Given the description of an element on the screen output the (x, y) to click on. 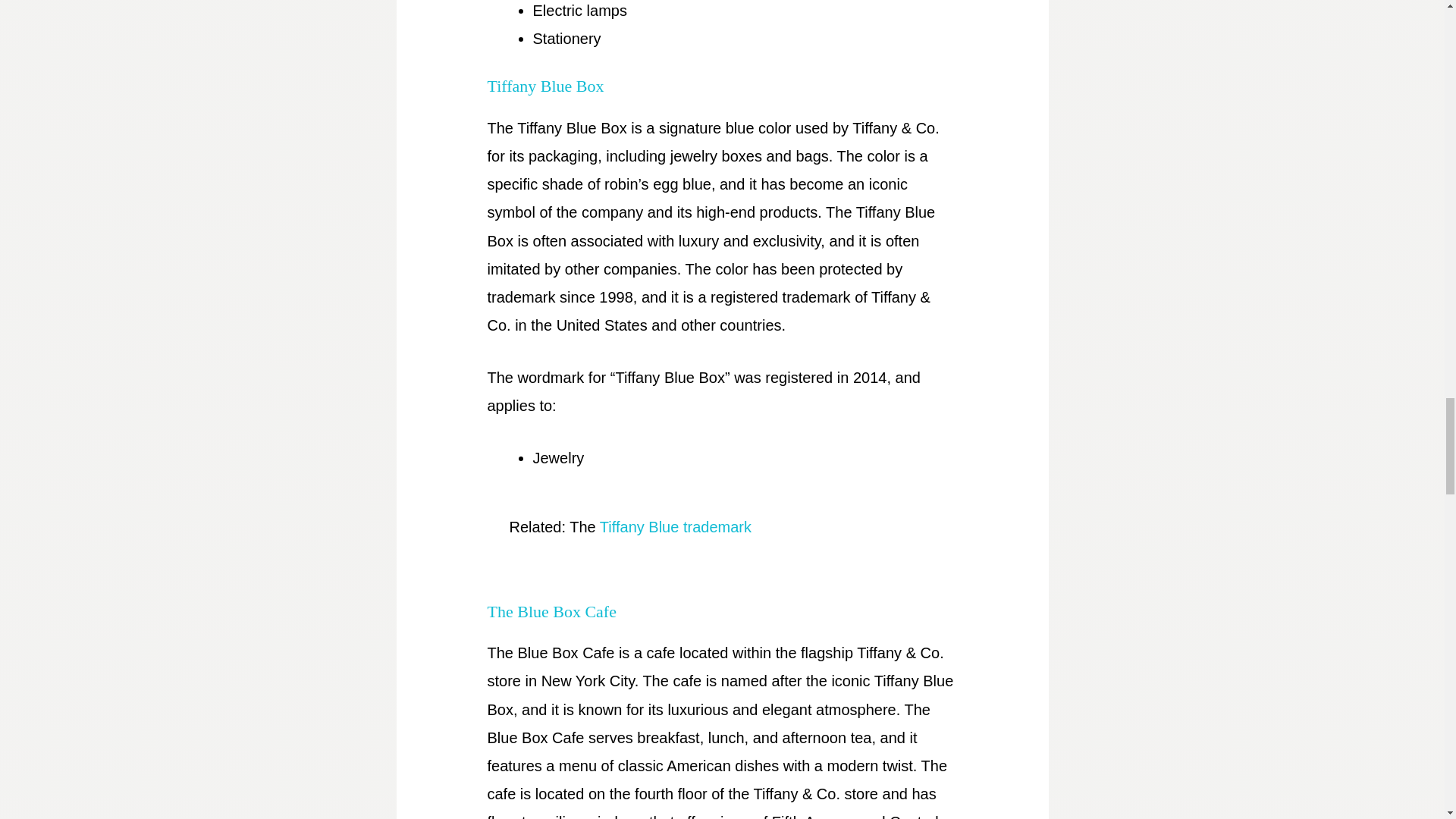
Tiffany Blue trademark (675, 526)
